Given the description of an element on the screen output the (x, y) to click on. 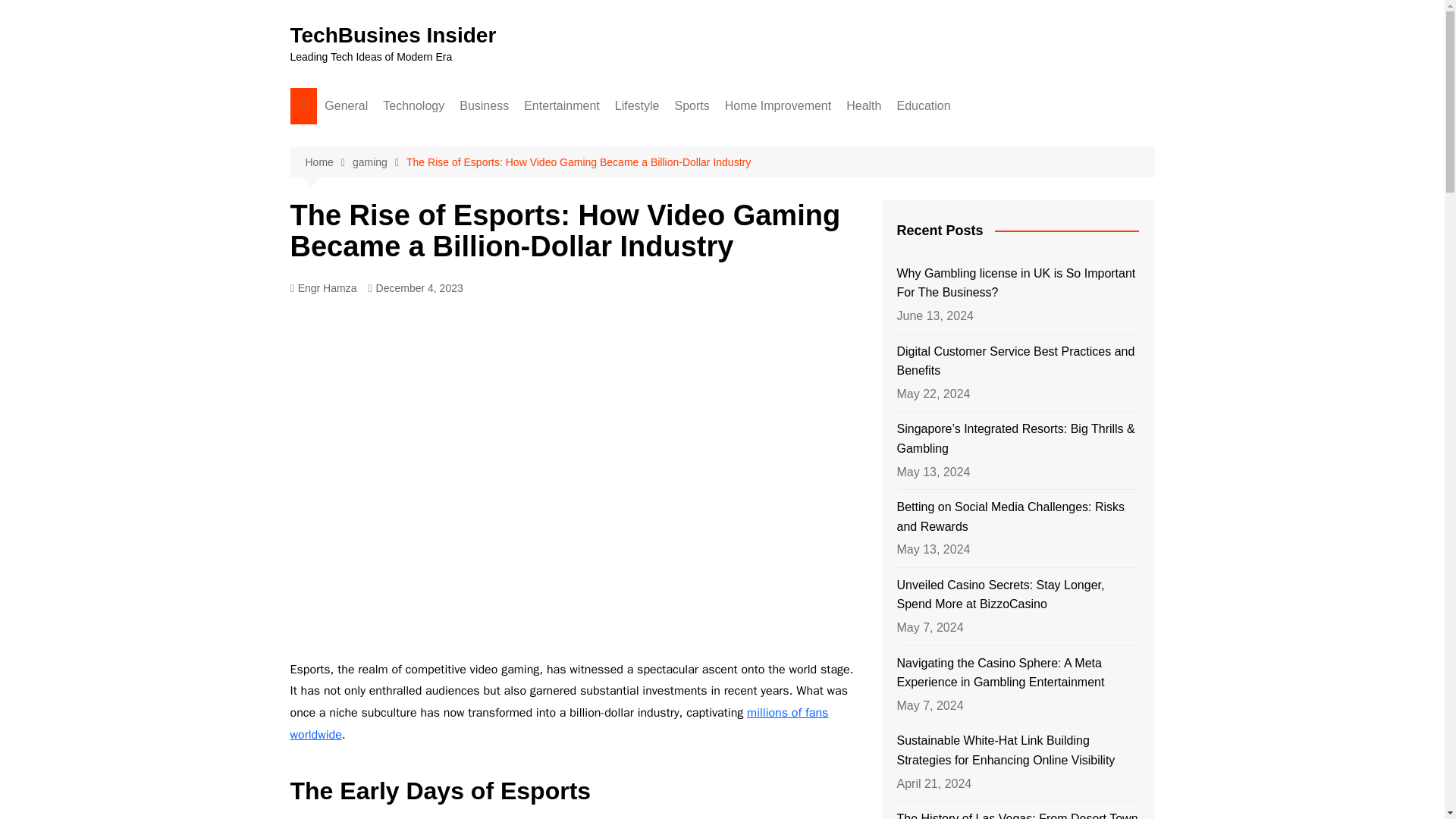
Entertainment (561, 105)
Crypto (534, 161)
General (346, 105)
Engr Hamza (322, 288)
casino (749, 136)
December 4, 2023 (415, 288)
construction (800, 136)
Education (923, 105)
Business (483, 105)
Health (863, 105)
